Given the description of an element on the screen output the (x, y) to click on. 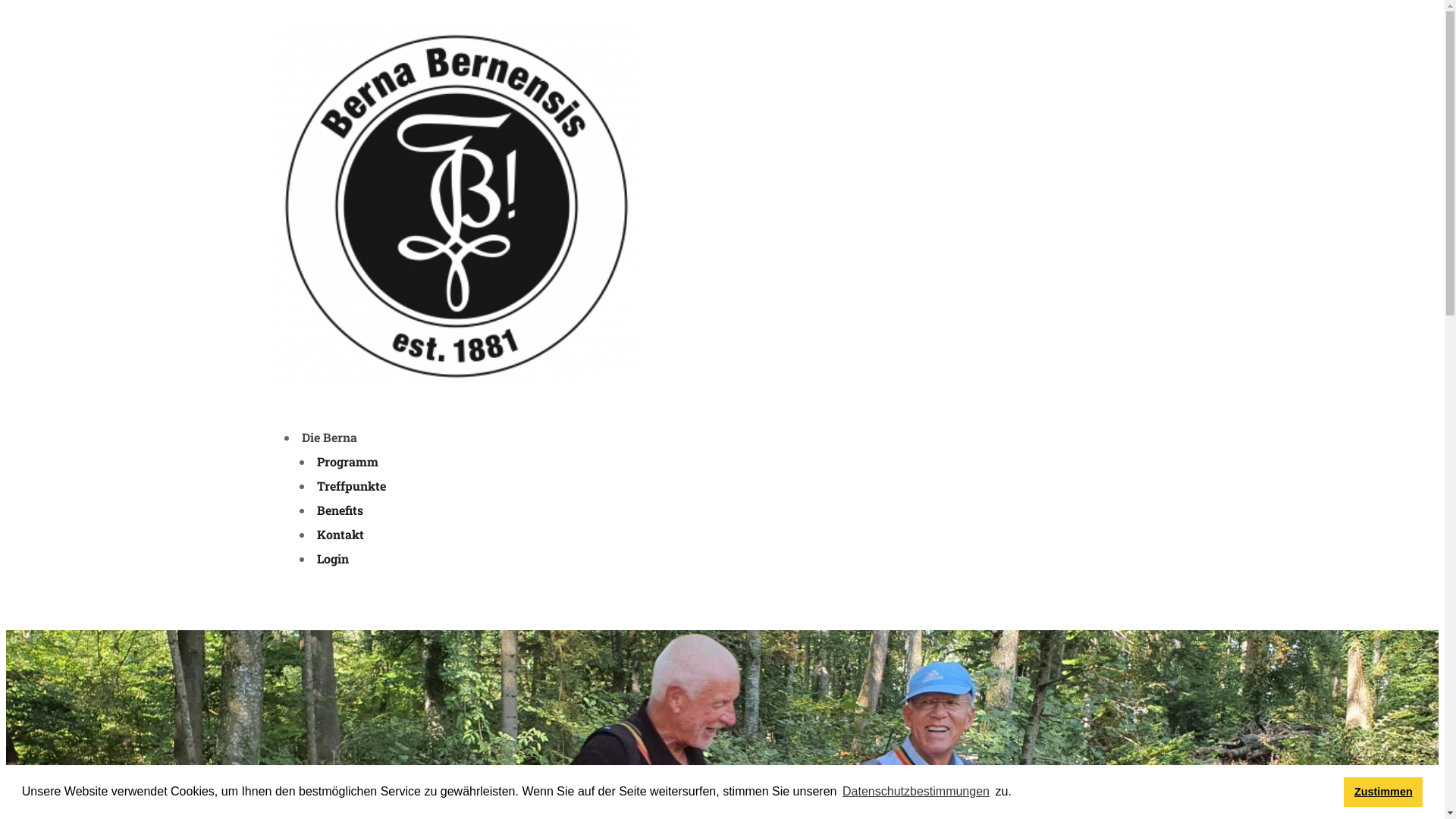
Treffpunkte Element type: text (350, 485)
Direkt zum Inhalt Element type: text (722, 7)
Benefits Element type: text (339, 509)
Zur Startseite Element type: hover (456, 378)
Login Element type: text (331, 558)
Logo Element type: hover (456, 205)
Zustimmen Element type: text (1382, 791)
Programm Element type: text (346, 461)
Kontakt Element type: text (339, 534)
Datenschutzbestimmungen Element type: text (915, 791)
Die Berna Element type: text (328, 436)
